Given the description of an element on the screen output the (x, y) to click on. 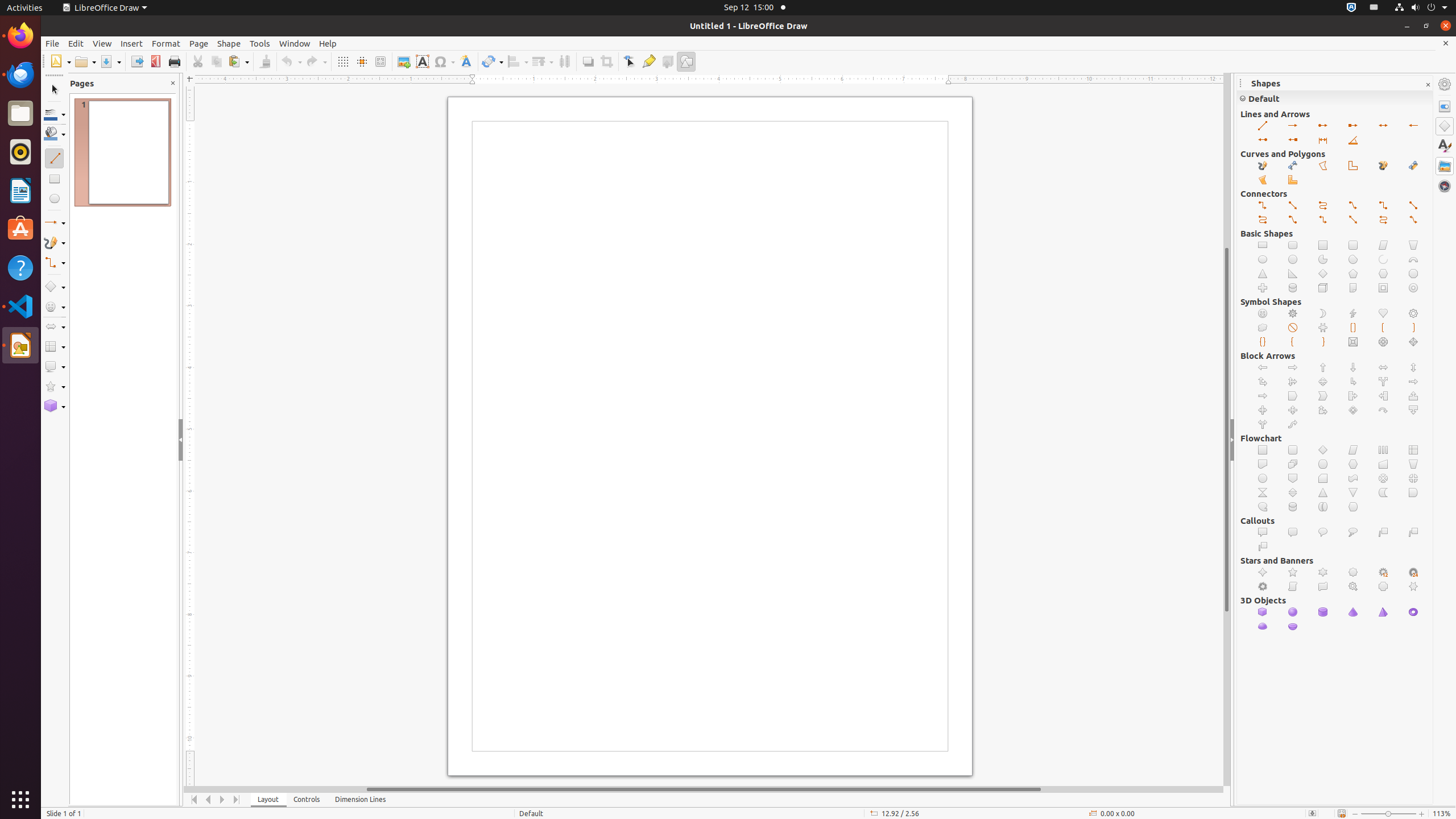
Dimension Lines Element type: page-tab (360, 799)
Symbol Element type: push-button (443, 61)
Flowchart: Merge Element type: list-item (1353, 492)
Open Element type: push-button (84, 61)
Controls Element type: page-tab (307, 799)
